Given the description of an element on the screen output the (x, y) to click on. 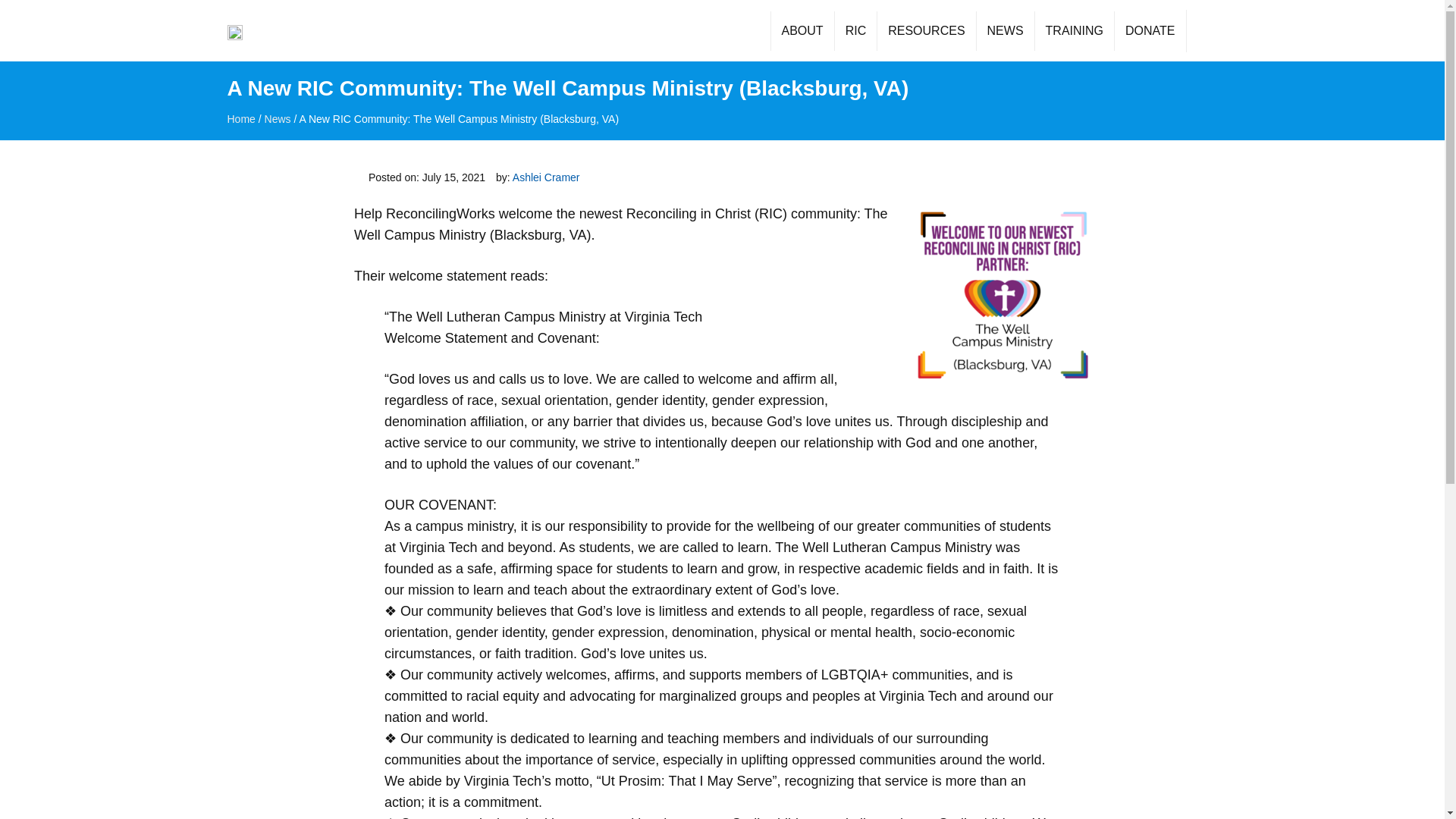
RIC (855, 30)
TRAINING (1073, 30)
NEWS (1004, 30)
Posts by Ashlei Cramer (545, 177)
DONATE (1149, 30)
ABOUT (802, 30)
RESOURCES (925, 30)
